Given the description of an element on the screen output the (x, y) to click on. 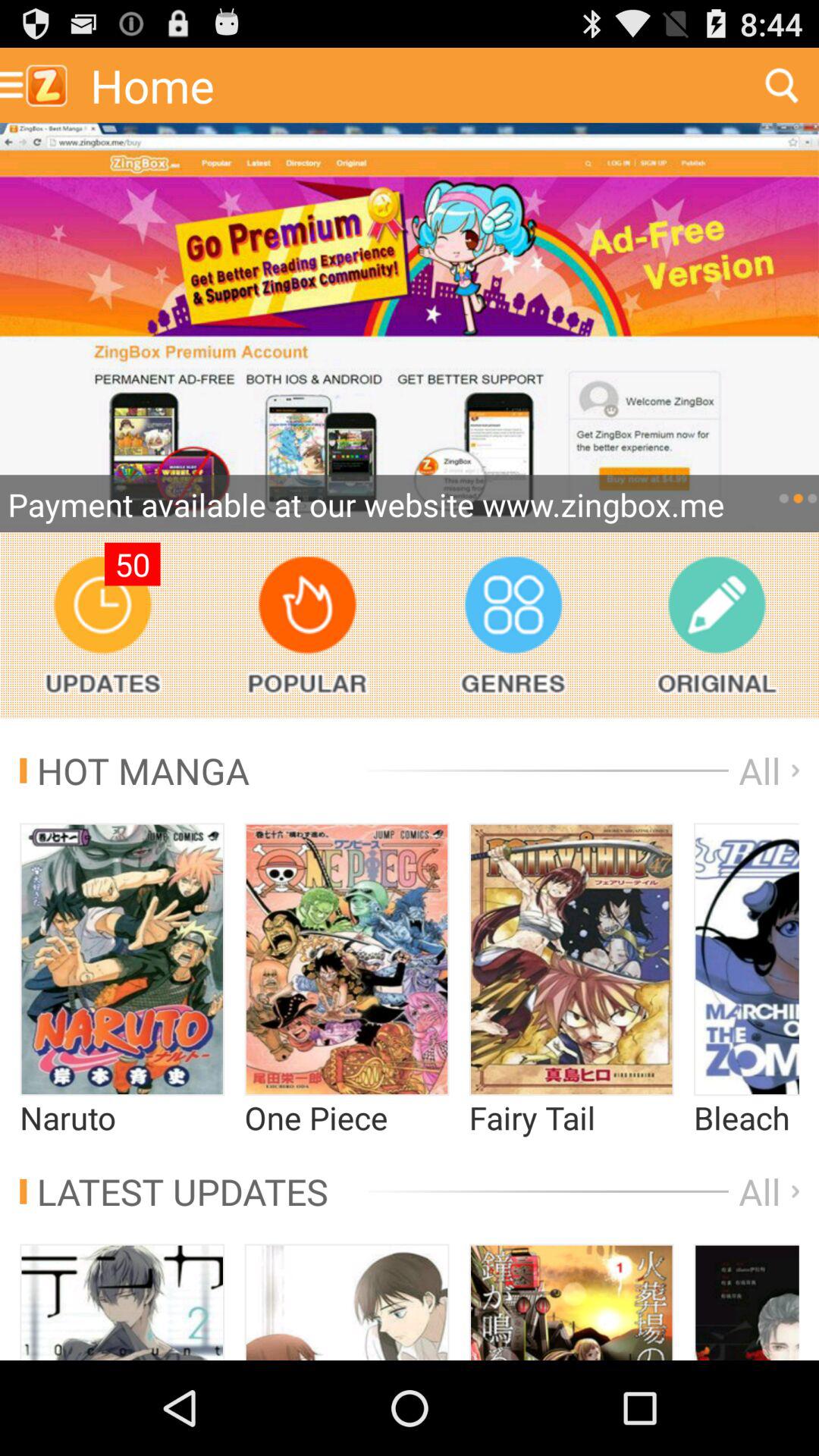
original works (716, 625)
